Given the description of an element on the screen output the (x, y) to click on. 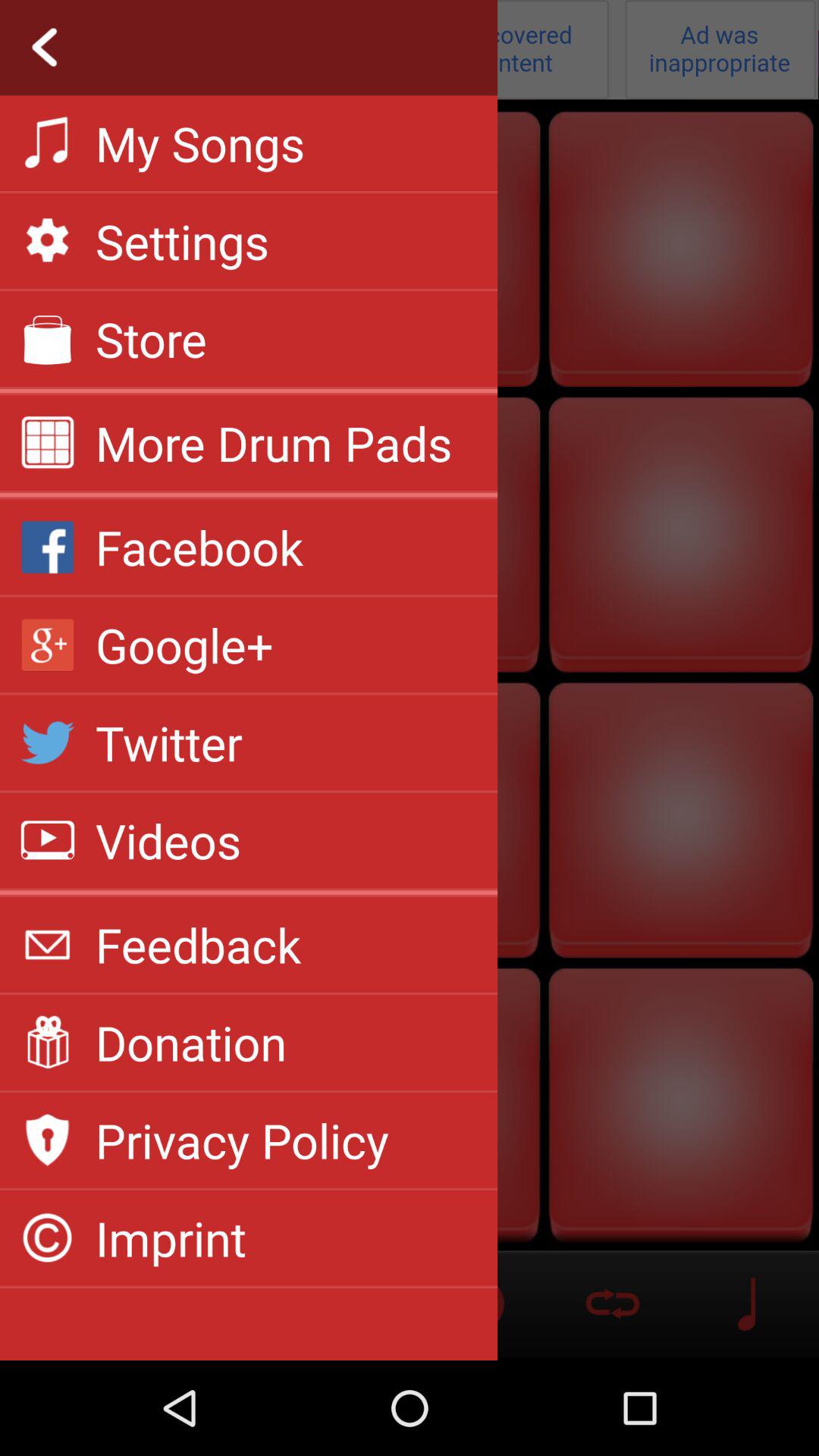
open the google+ app (184, 644)
